Given the description of an element on the screen output the (x, y) to click on. 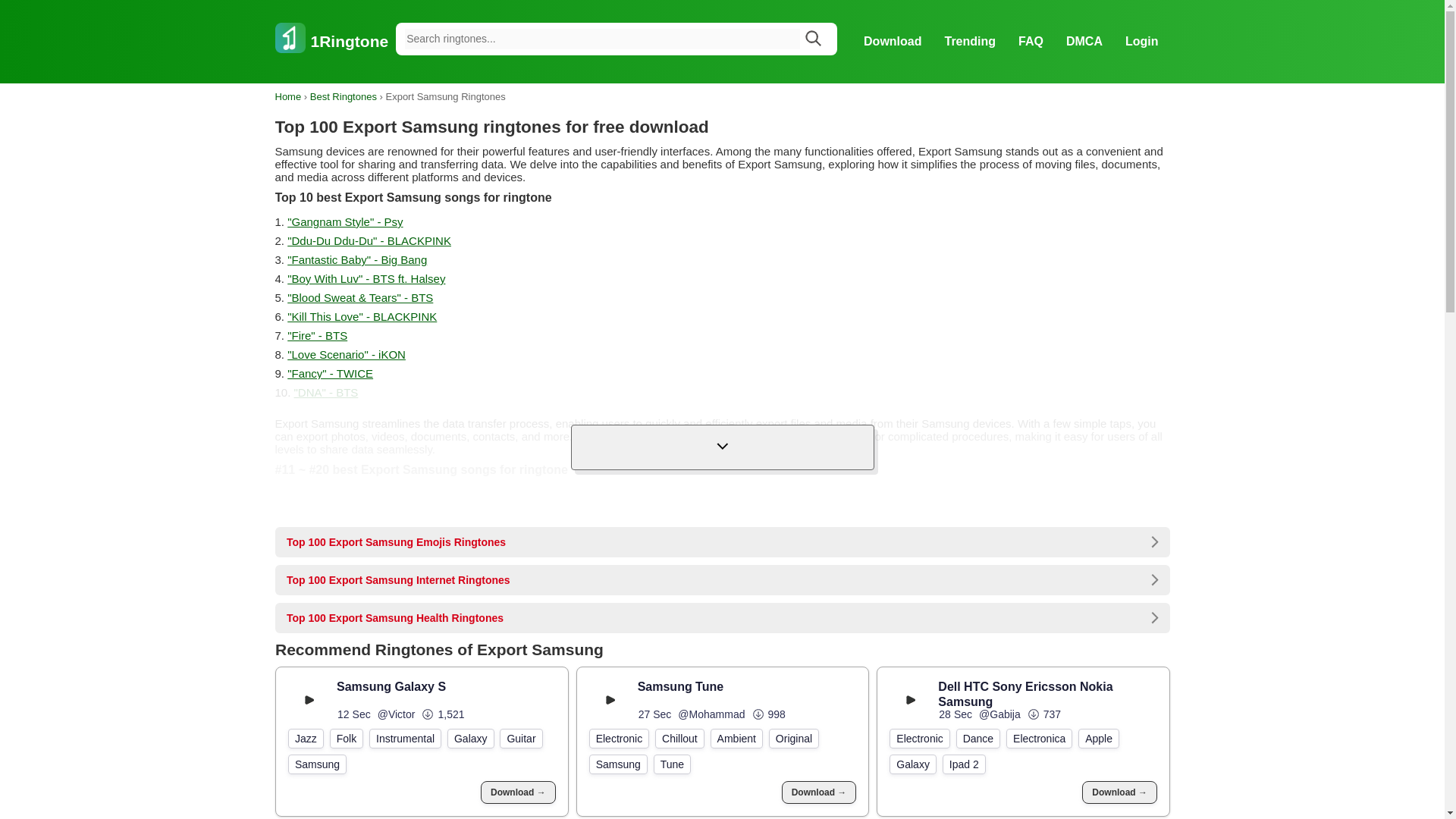
Login (1141, 41)
Download (892, 41)
"Fantastic Baby" - Big Bang (356, 259)
Best Ringtones (343, 96)
DMCA (1083, 41)
"Fancy" - TWICE (329, 373)
"Playing With Fire" - BLACKPINK (378, 493)
"Ddu-Du Ddu-Du" - BLACKPINK (368, 240)
"DNA" - BTS (326, 391)
FAQ (1030, 41)
